Given the description of an element on the screen output the (x, y) to click on. 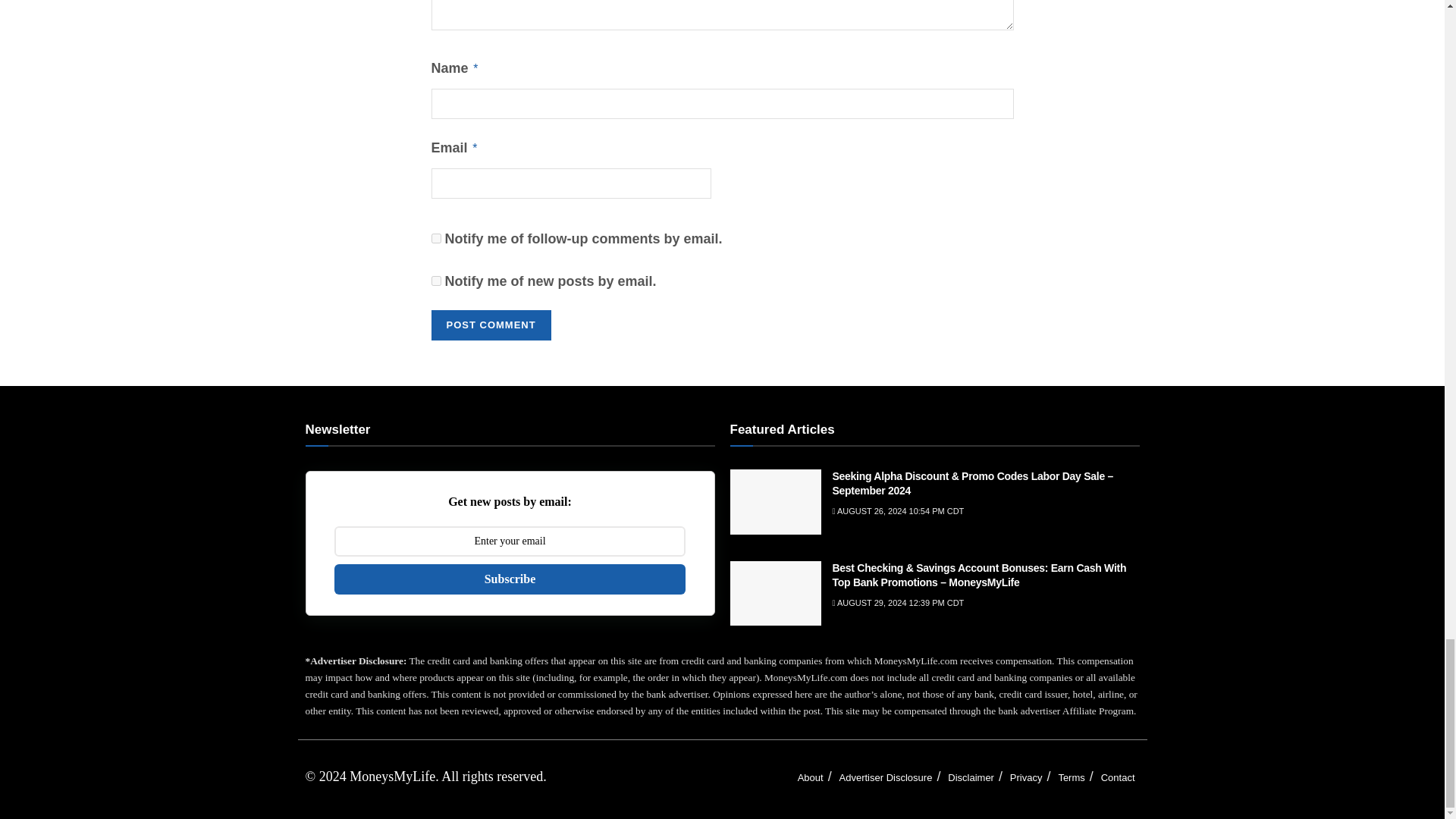
subscribe (435, 280)
Post Comment (490, 325)
subscribe (435, 238)
